Given the description of an element on the screen output the (x, y) to click on. 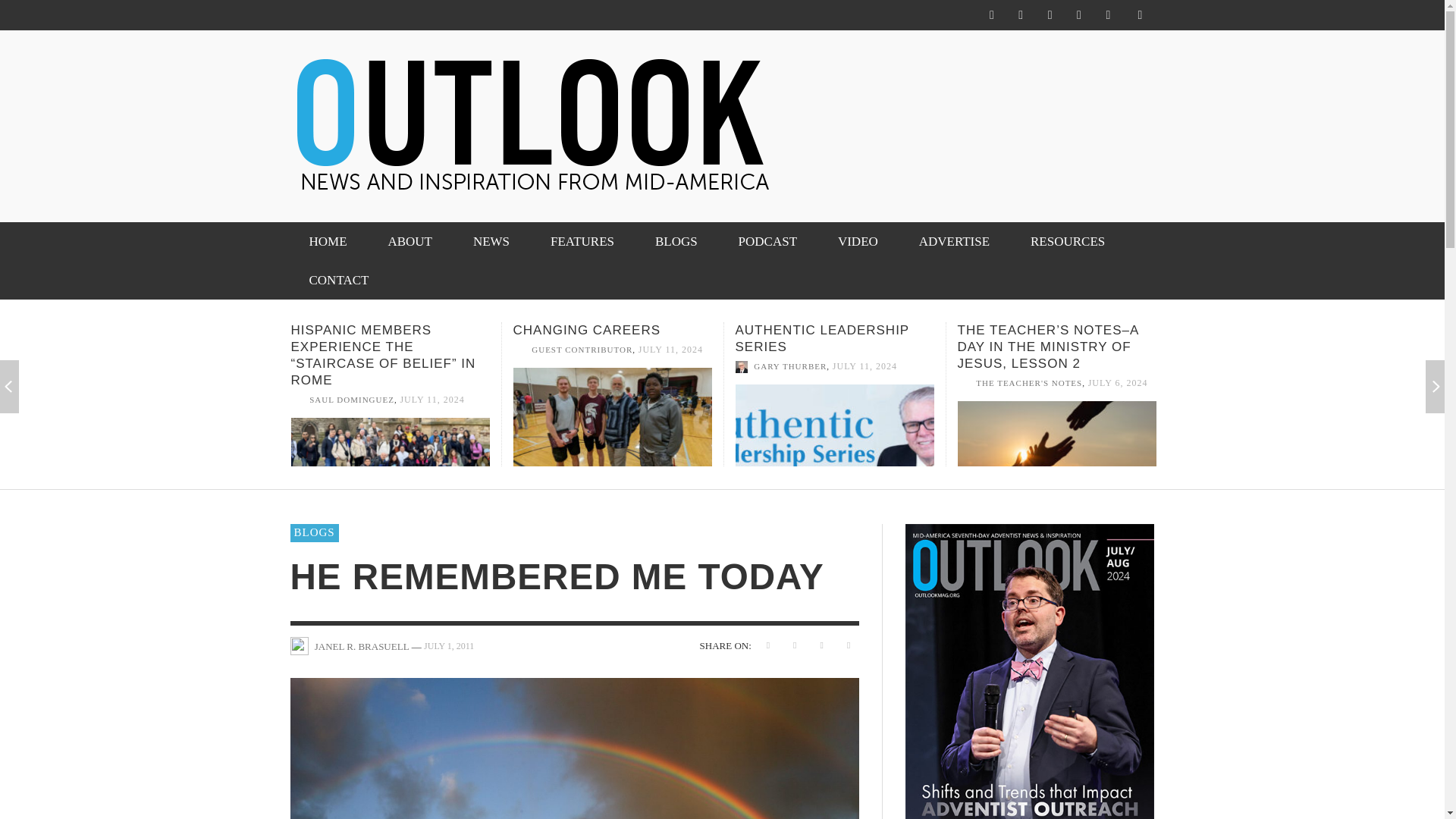
Vimeo (1078, 15)
Instagram (1020, 15)
Facebook (991, 15)
NEWS (491, 241)
HOME (327, 241)
ABOUT (409, 241)
Twitter (1049, 15)
Youtube (1107, 15)
